Given the description of an element on the screen output the (x, y) to click on. 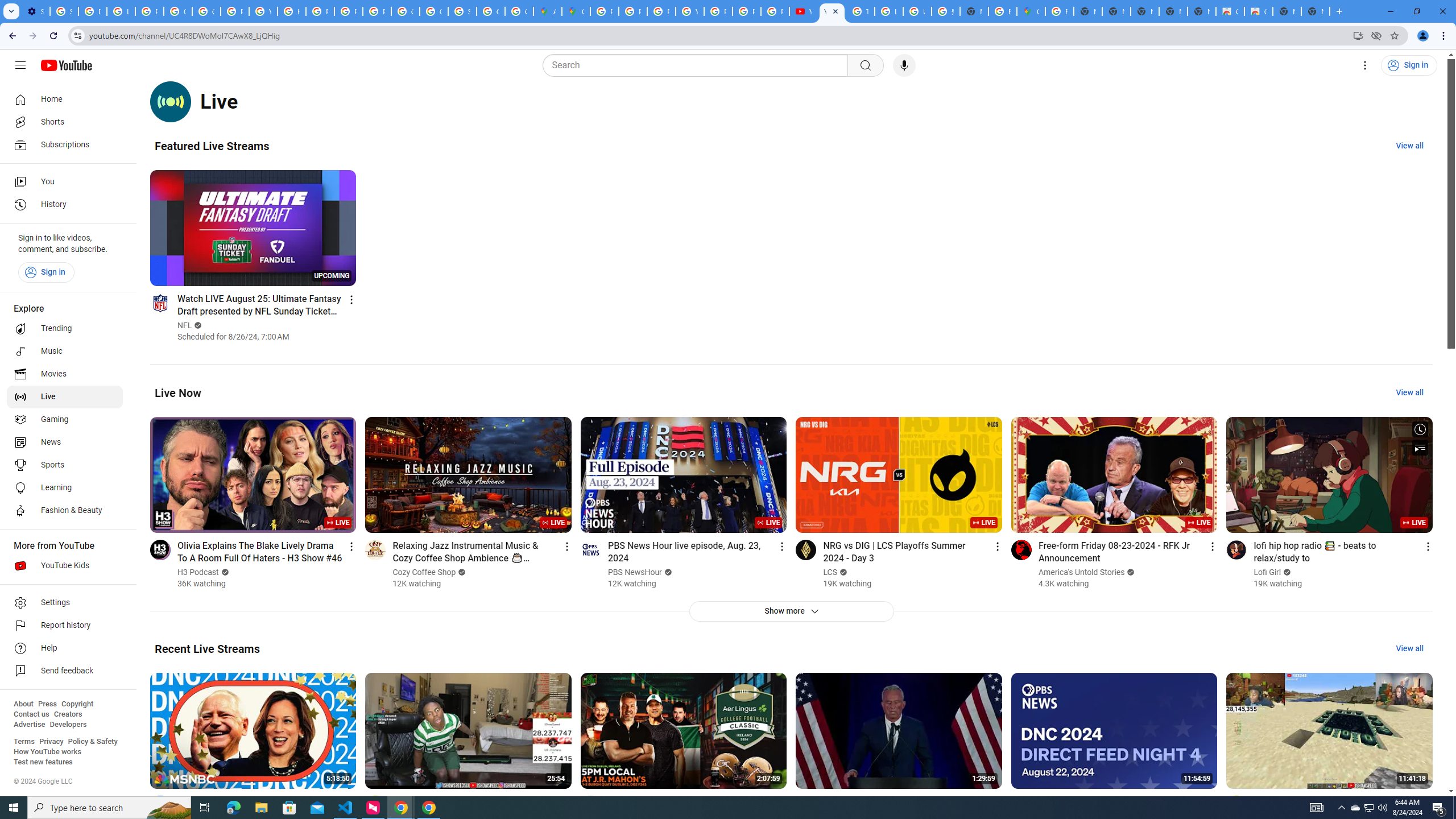
Verified (1286, 572)
Learning (64, 487)
Google Account Help (206, 11)
Developers (68, 724)
Privacy Help Center - Policies Help (632, 11)
Classic Blue - Chrome Web Store (1258, 11)
Recent Live Streams (207, 648)
Live (64, 396)
